Given the description of an element on the screen output the (x, y) to click on. 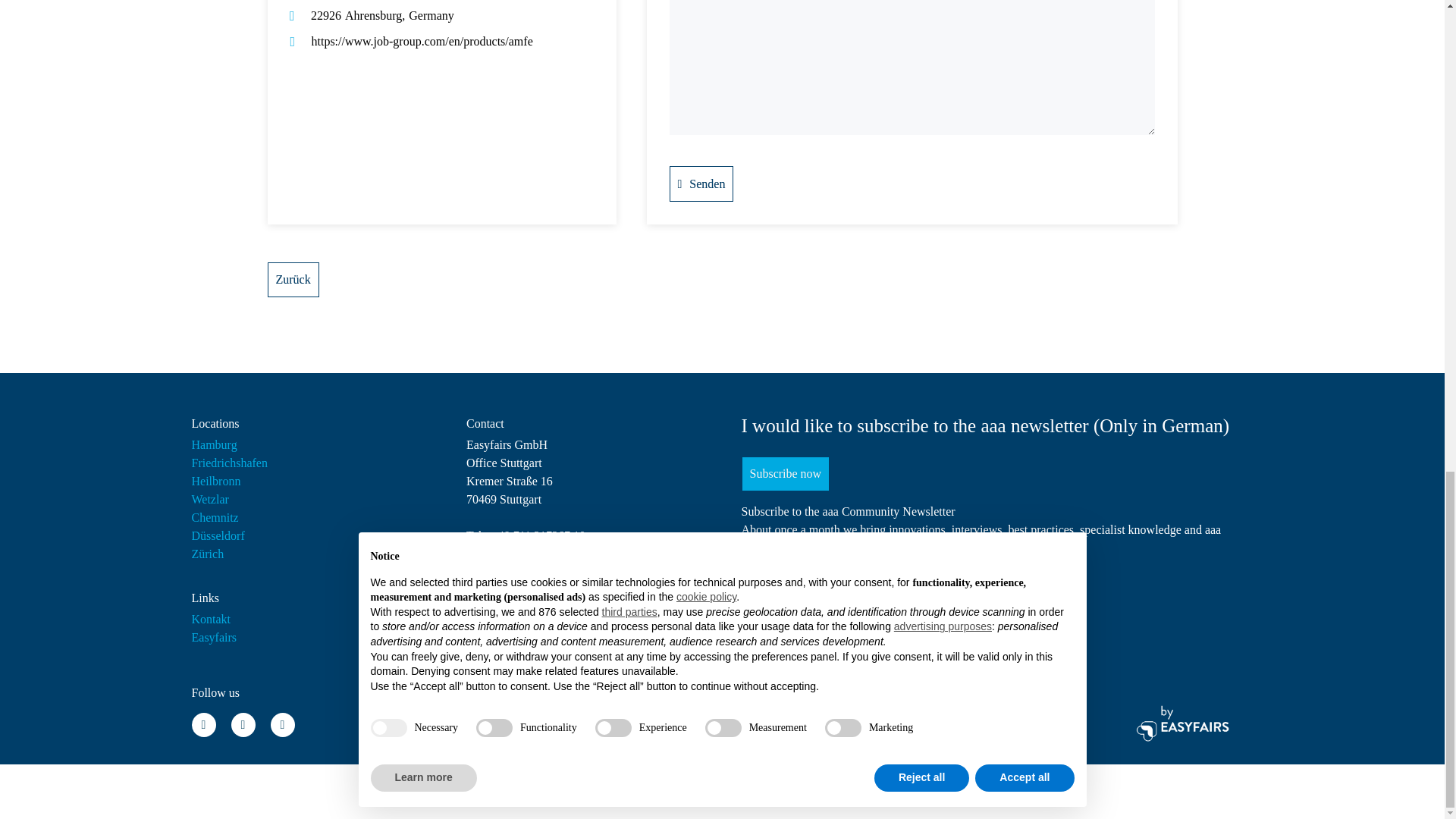
Youtube (281, 724)
Linkedin (202, 724)
Flickr (242, 724)
